Given the description of an element on the screen output the (x, y) to click on. 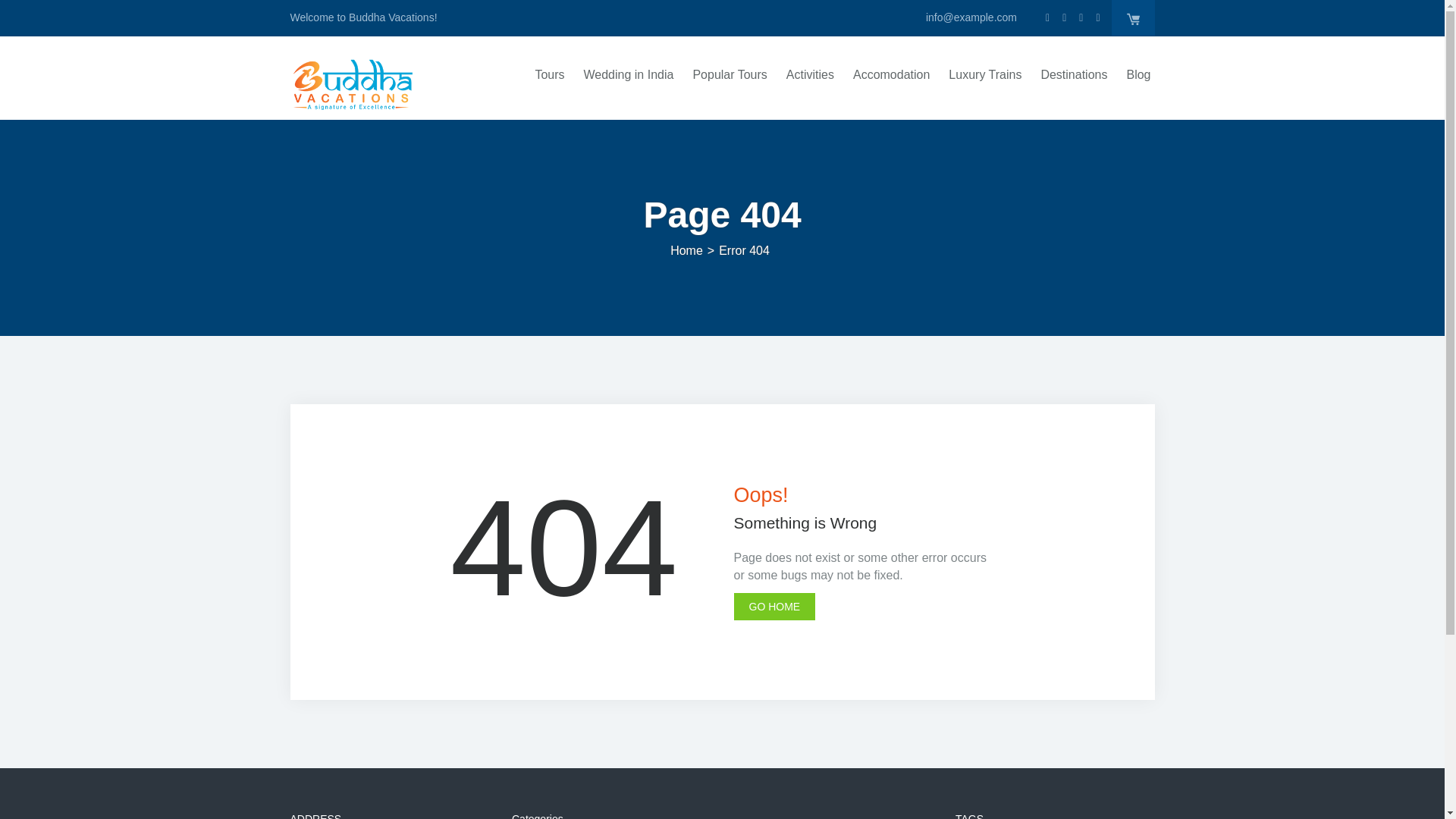
Wedding in India (628, 88)
Home (686, 250)
Popular Tours (729, 88)
Buddha Vacations (351, 82)
